Given the description of an element on the screen output the (x, y) to click on. 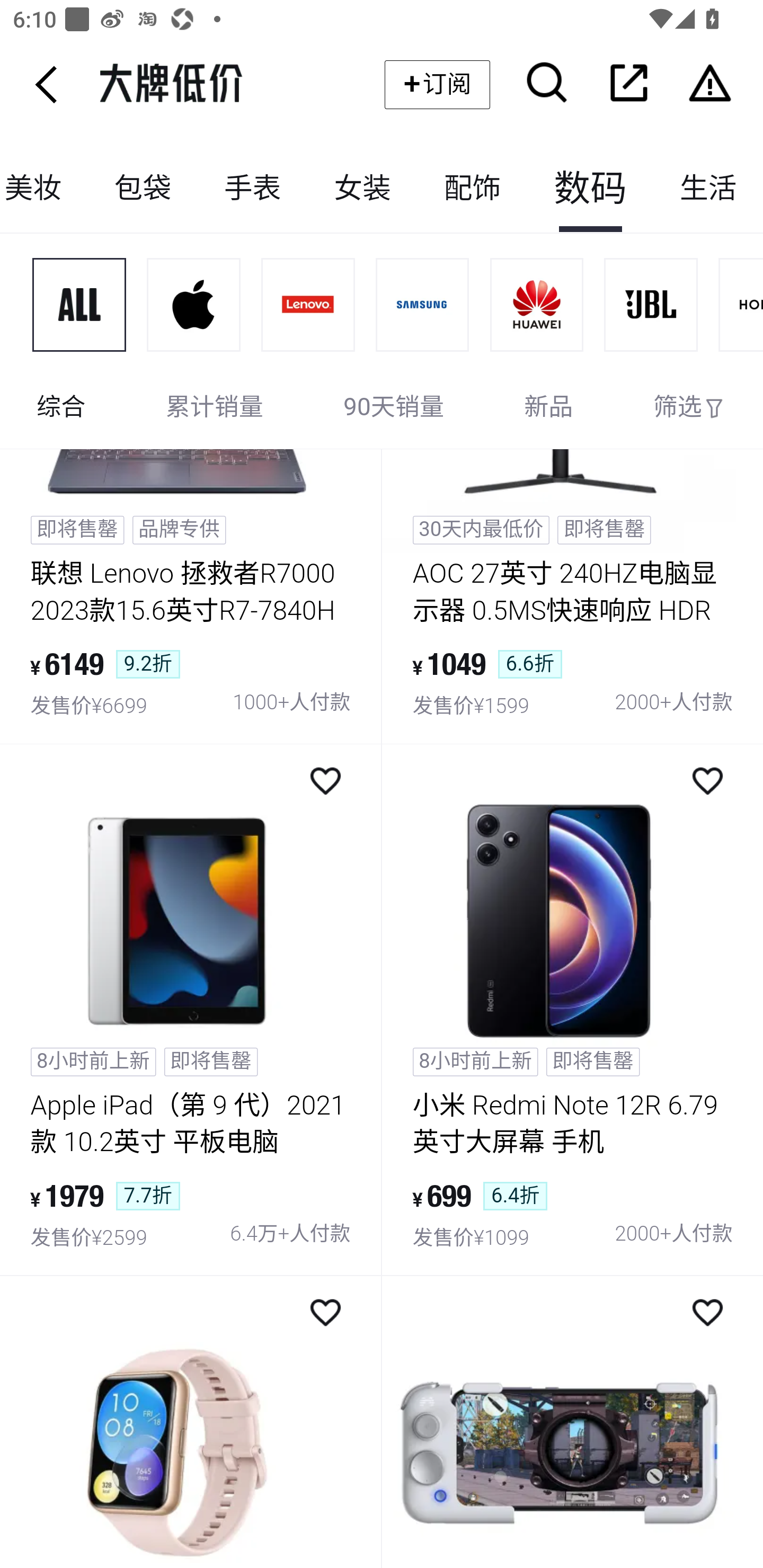
美妆 (44, 188)
包袋 (142, 188)
手表 (252, 188)
女装 (362, 188)
配饰 (471, 188)
数码 (590, 188)
生活 (708, 188)
img (79, 304)
img (193, 304)
img (308, 304)
img (422, 304)
img (537, 304)
img (651, 304)
综合 (60, 408)
累计销量 (214, 408)
90天销量 (393, 408)
新品 (547, 408)
筛选 resize,w_750 (688, 408)
img (190, 1422)
img (572, 1422)
